Given the description of an element on the screen output the (x, y) to click on. 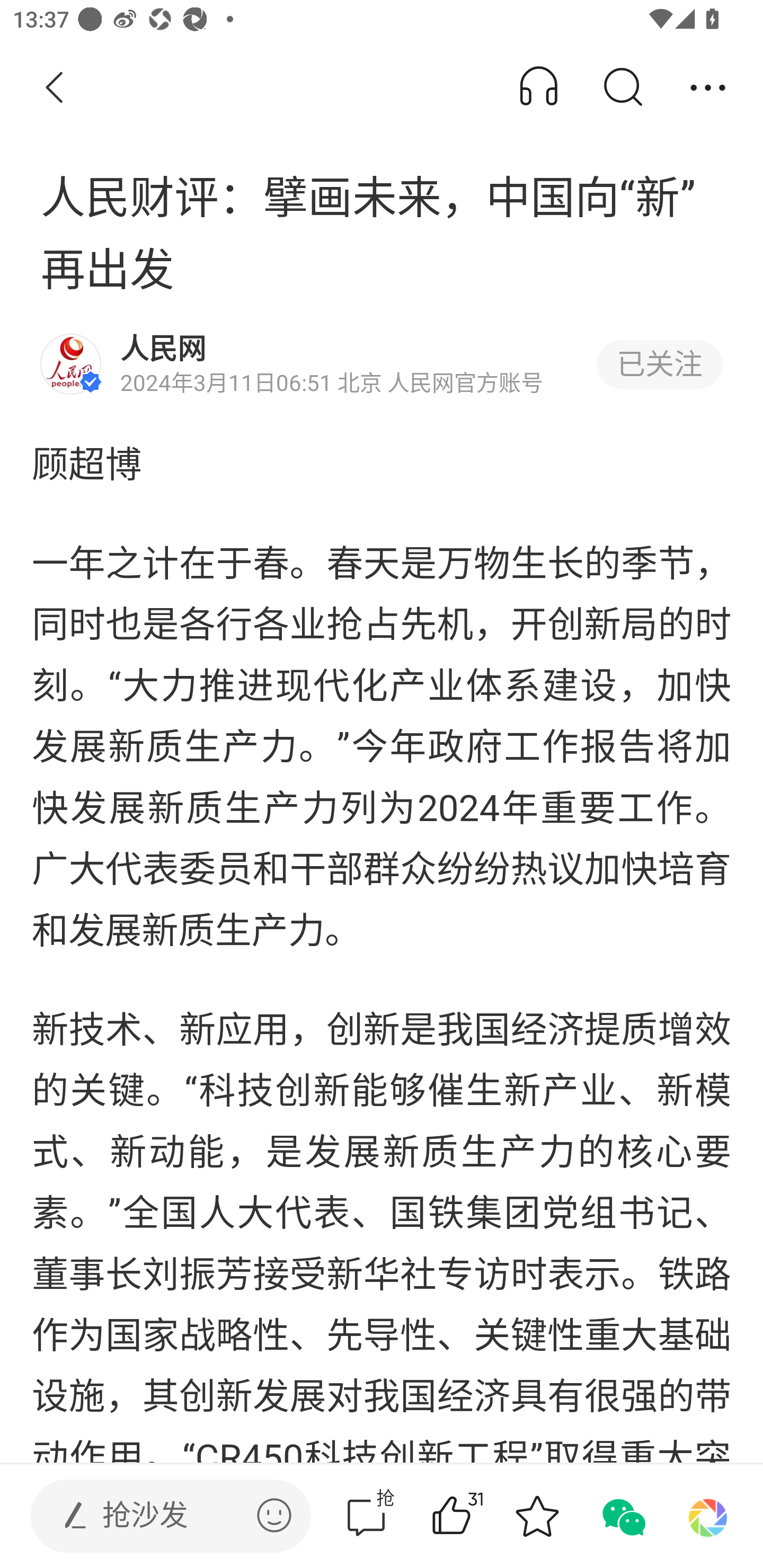
搜索  (622, 87)
分享  (707, 87)
 返回 (54, 87)
人民网 2024年3月11日06:51 北京 人民网官方账号 已关注 (381, 364)
已关注 (659, 364)
发表评论  抢沙发 发表评论  (155, 1516)
抢评论  抢 评论 (365, 1516)
31赞 (476, 1516)
收藏  (536, 1516)
分享到微信  (622, 1516)
分享到朋友圈 (707, 1516)
 (274, 1515)
